Given the description of an element on the screen output the (x, y) to click on. 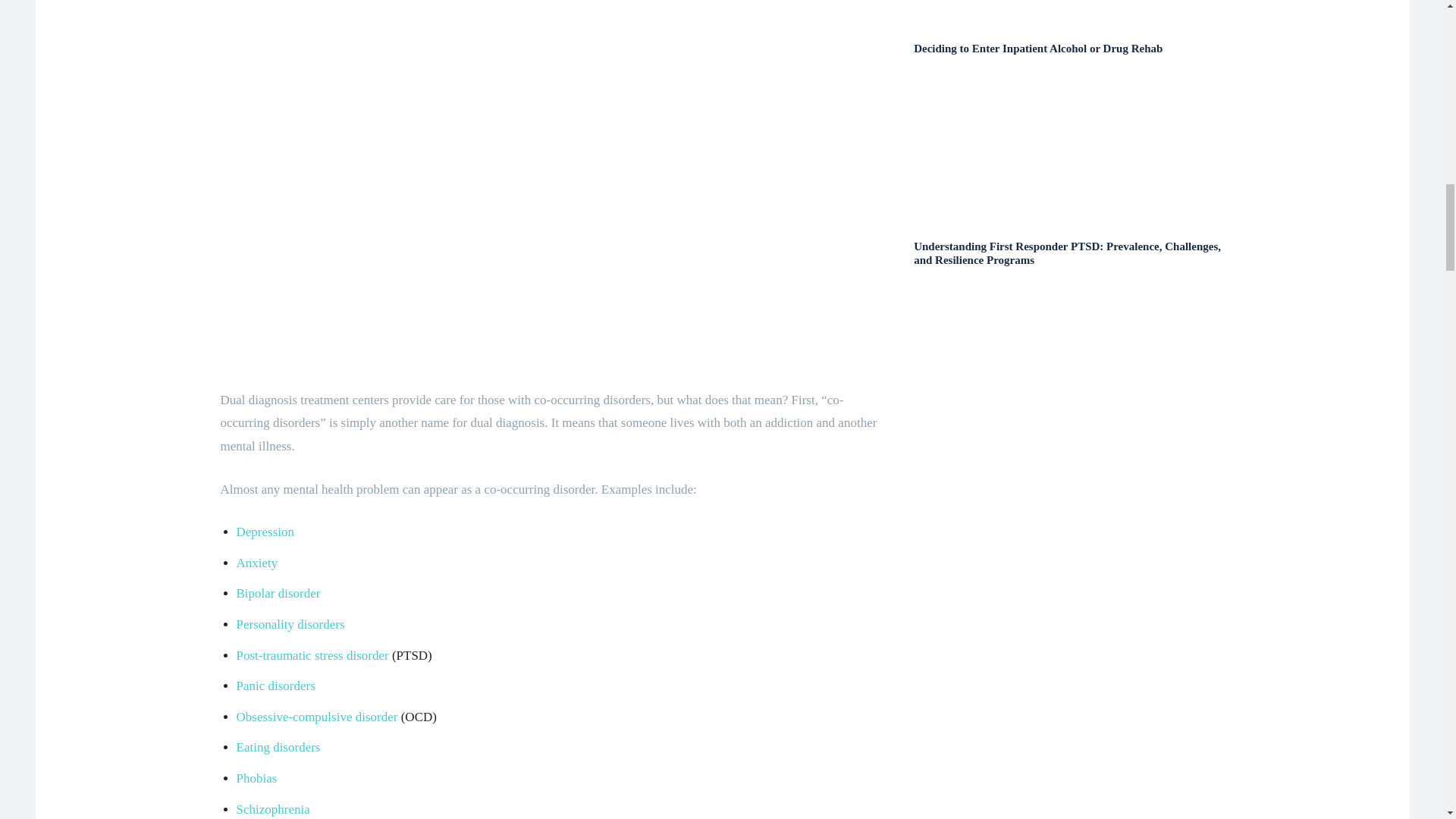
Personality disorders (290, 624)
Eating disorders (277, 747)
Anxiety (256, 563)
Depression (264, 531)
Post-traumatic stress disorder (311, 655)
Schizophrenia (272, 809)
Phobias (256, 778)
Obsessive-compulsive disorder (316, 716)
Personality Disorders (290, 624)
Depression (264, 531)
